Given the description of an element on the screen output the (x, y) to click on. 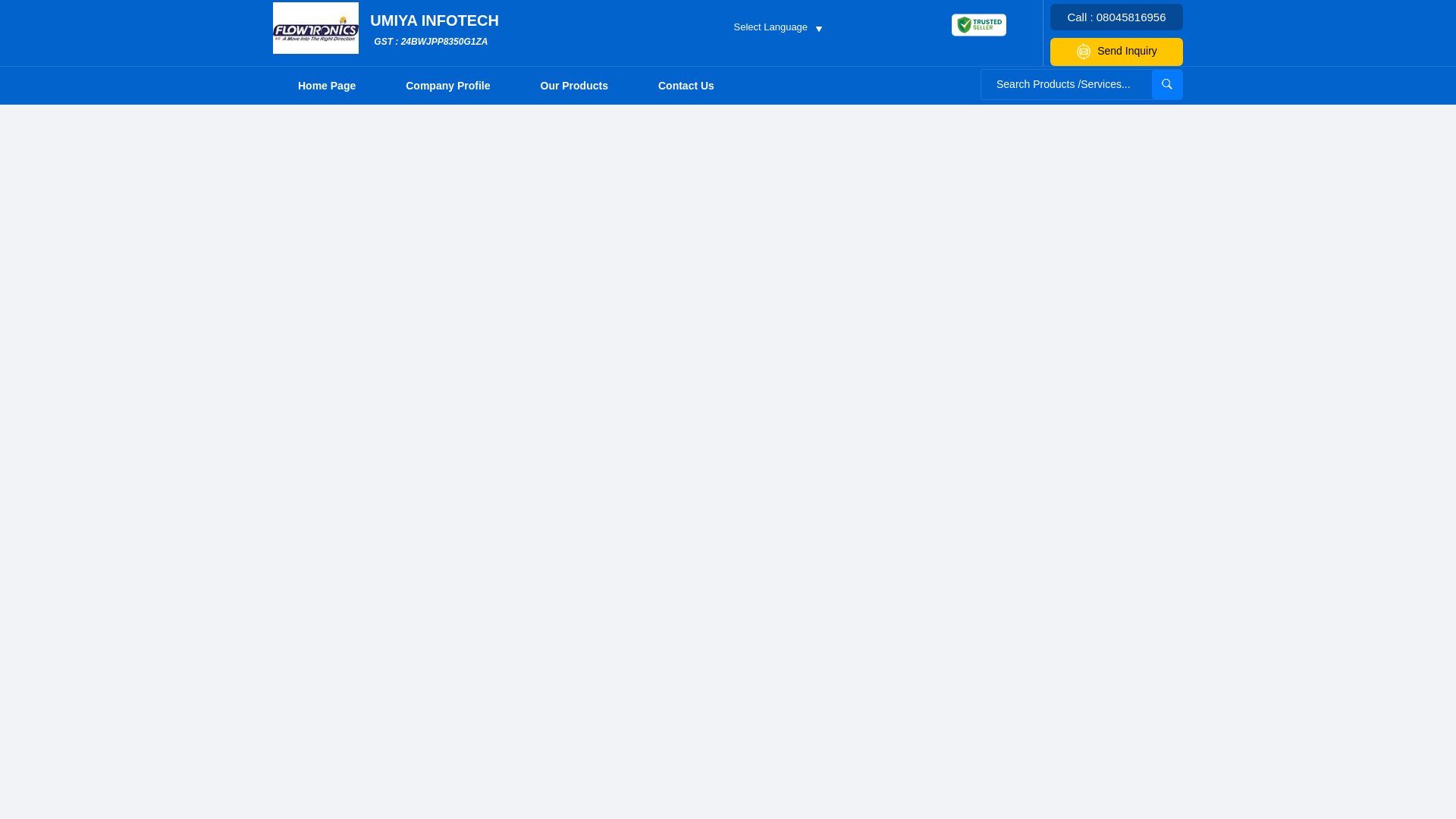
Select Language (776, 26)
Our Products (574, 85)
Home Page (326, 85)
submit (1166, 84)
Send Inquiry (1115, 51)
Company Profile (447, 85)
Contact Us (686, 85)
